Given the description of an element on the screen output the (x, y) to click on. 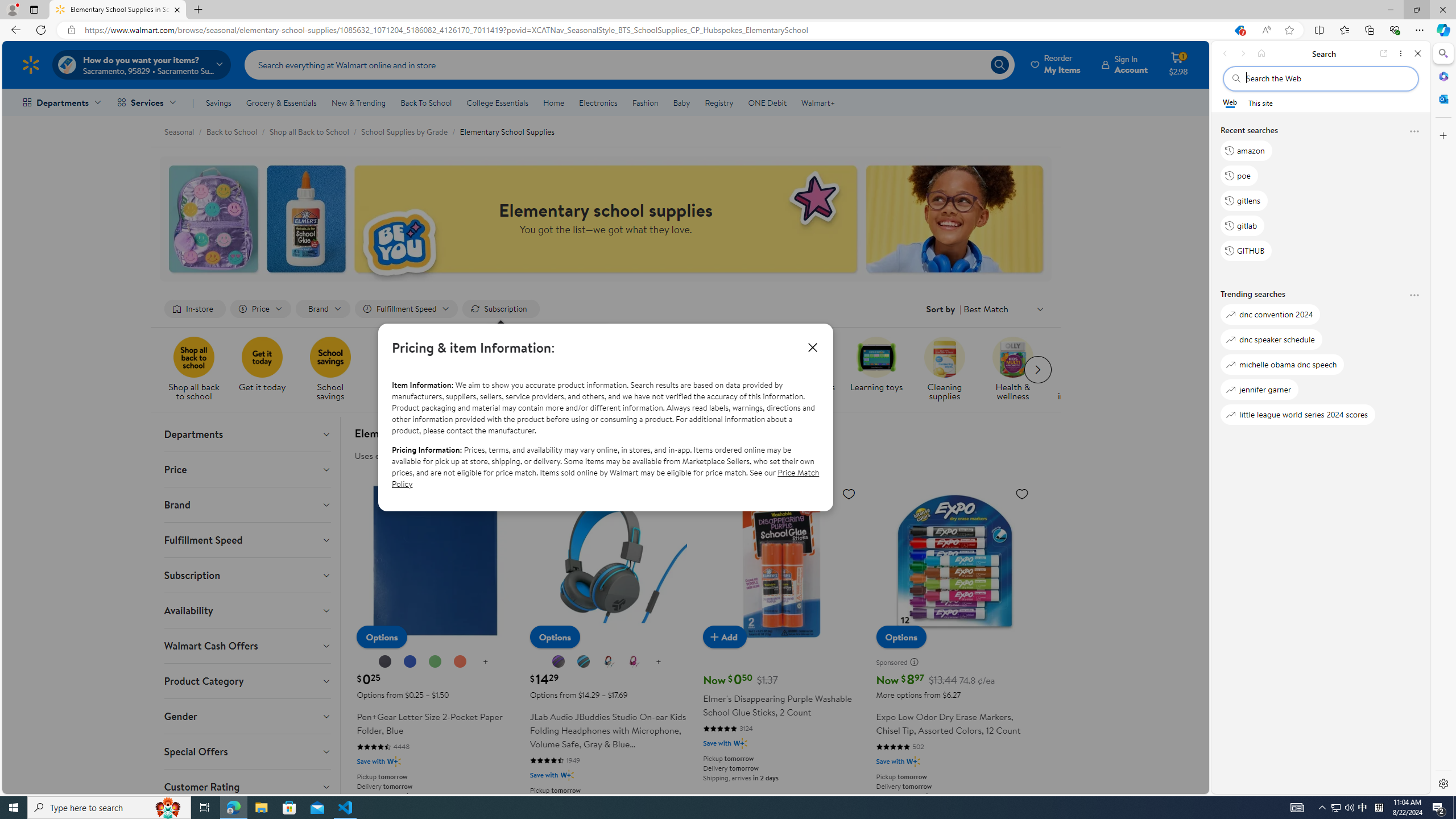
dnc convention 2024 (1270, 314)
GITHUB (1246, 250)
Close Search pane (1442, 53)
gitlab (1242, 225)
